Given the description of an element on the screen output the (x, y) to click on. 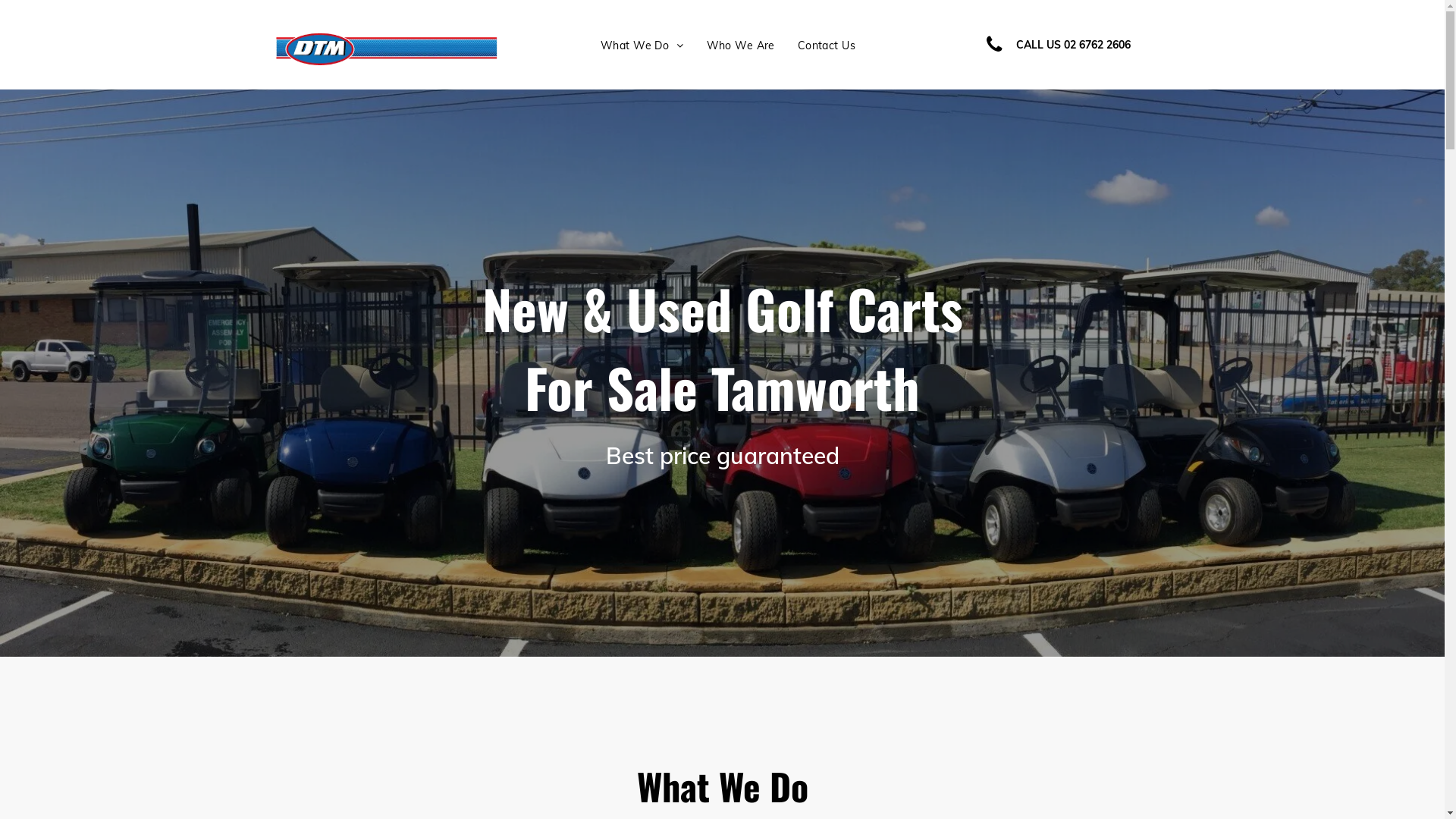
DTM Tamworth Sells New & Used Golf Carts Element type: hover (386, 48)
What We Do Element type: text (642, 45)
CALL US 02 6762 2606 Element type: text (1072, 44)
Who We Are Element type: text (740, 45)
Contact Us Element type: text (826, 45)
